Given the description of an element on the screen output the (x, y) to click on. 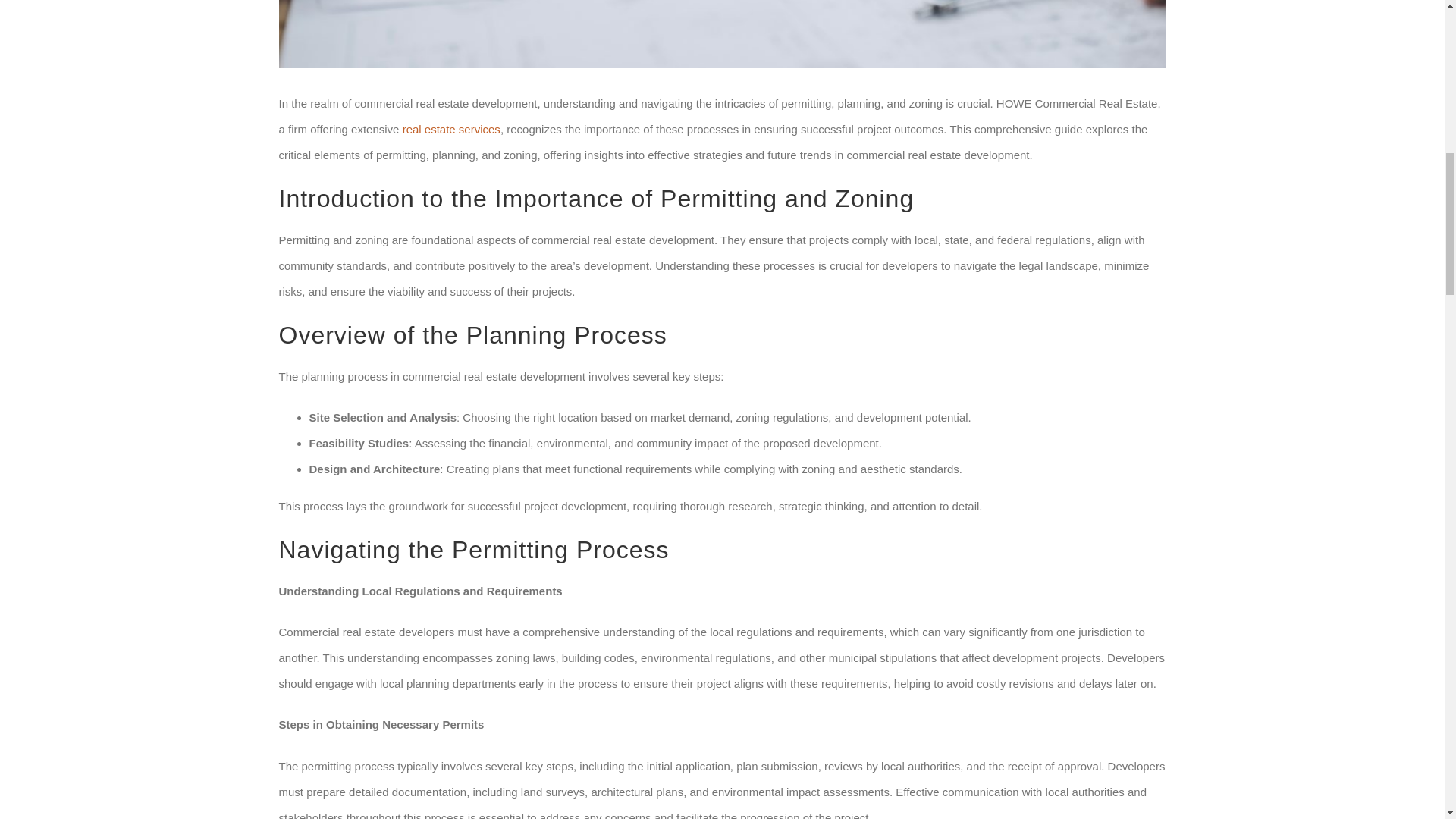
View Larger Image (722, 33)
real estate services (451, 128)
